Given the description of an element on the screen output the (x, y) to click on. 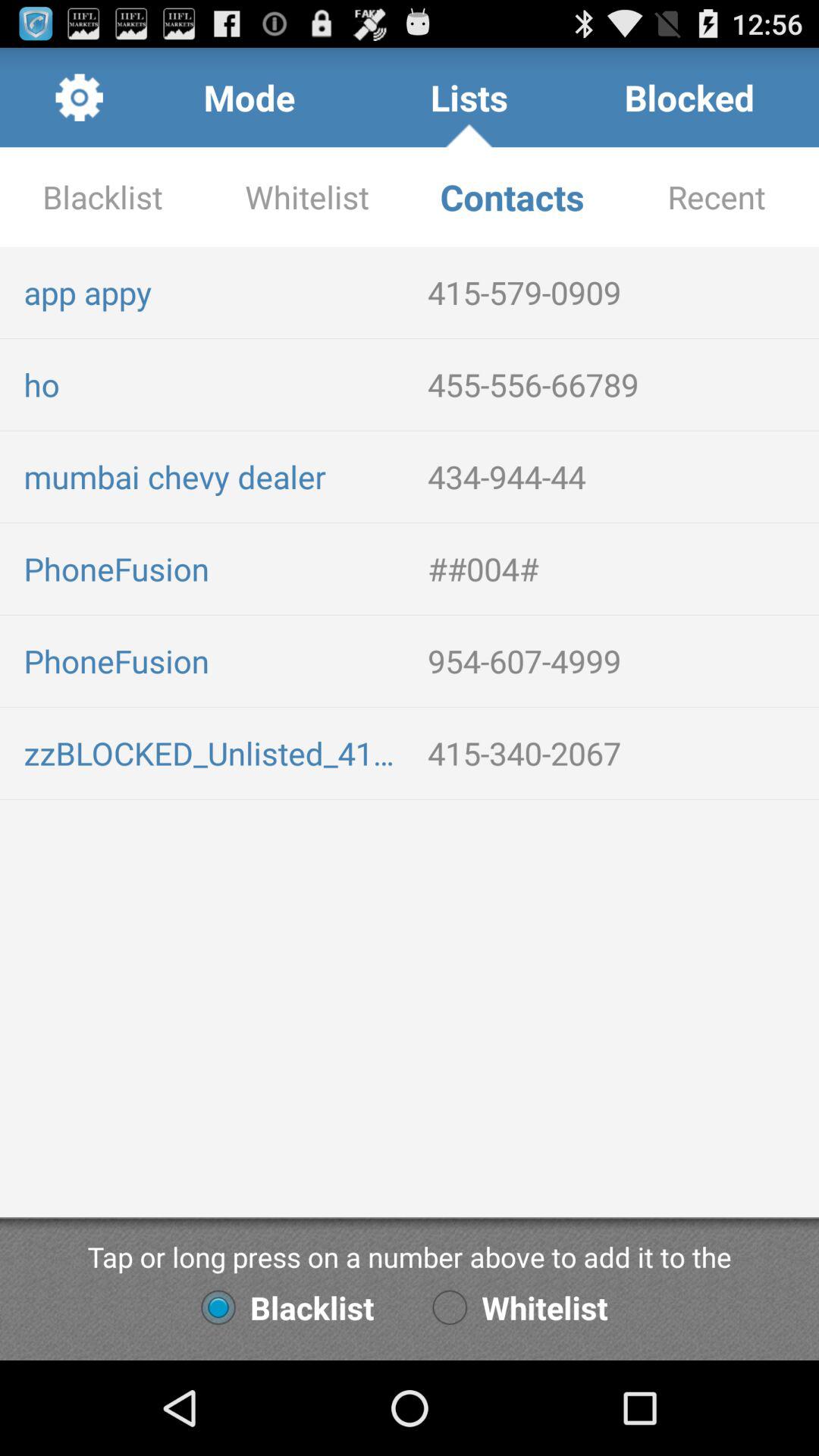
turn off the mode item (249, 97)
